Given the description of an element on the screen output the (x, y) to click on. 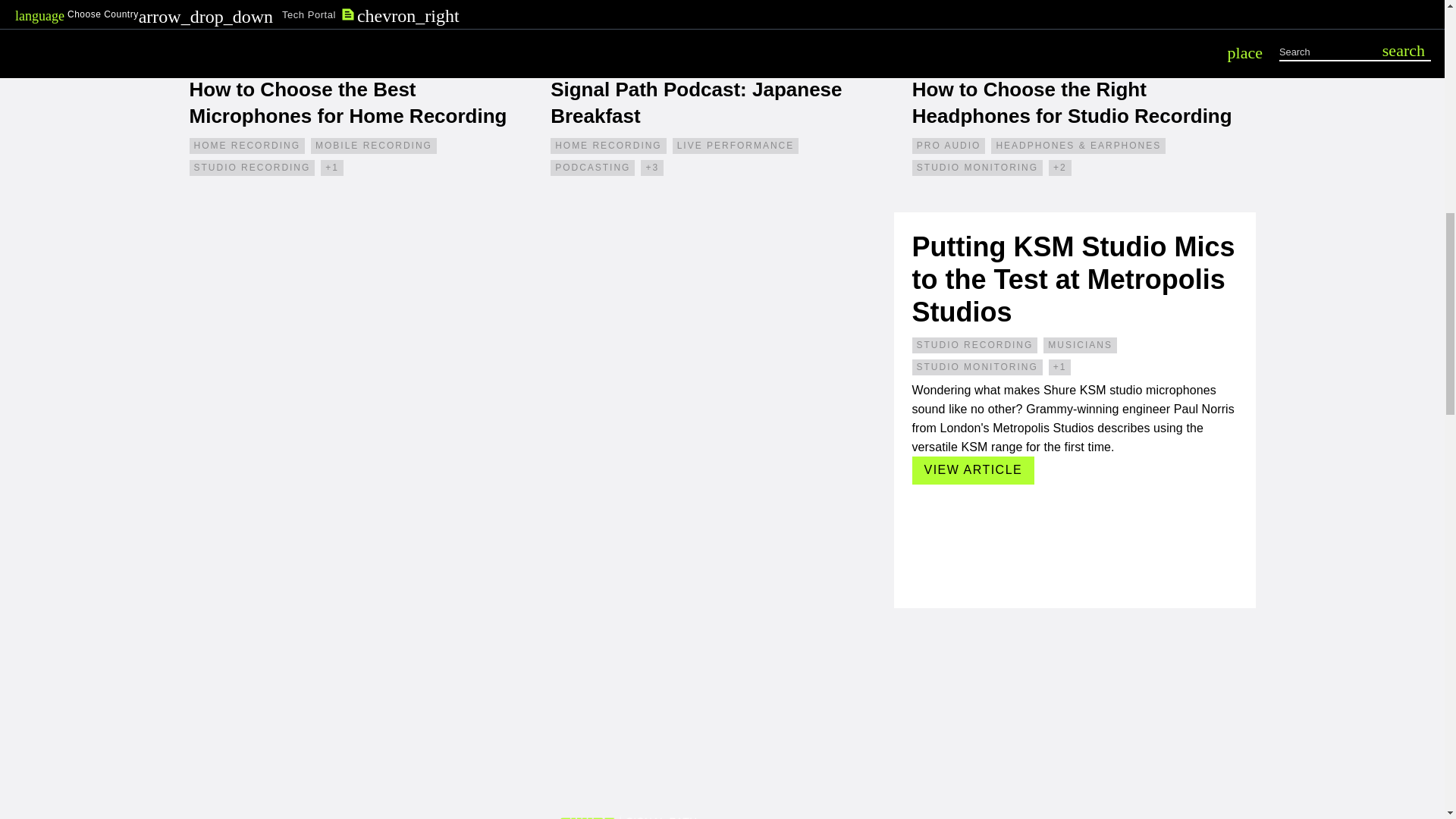
STUDIO RECORDING (252, 167)
HOME RECORDING (247, 145)
How to Choose the Best Microphones for Home Recording (360, 110)
MOBILE RECORDING (373, 145)
